Given the description of an element on the screen output the (x, y) to click on. 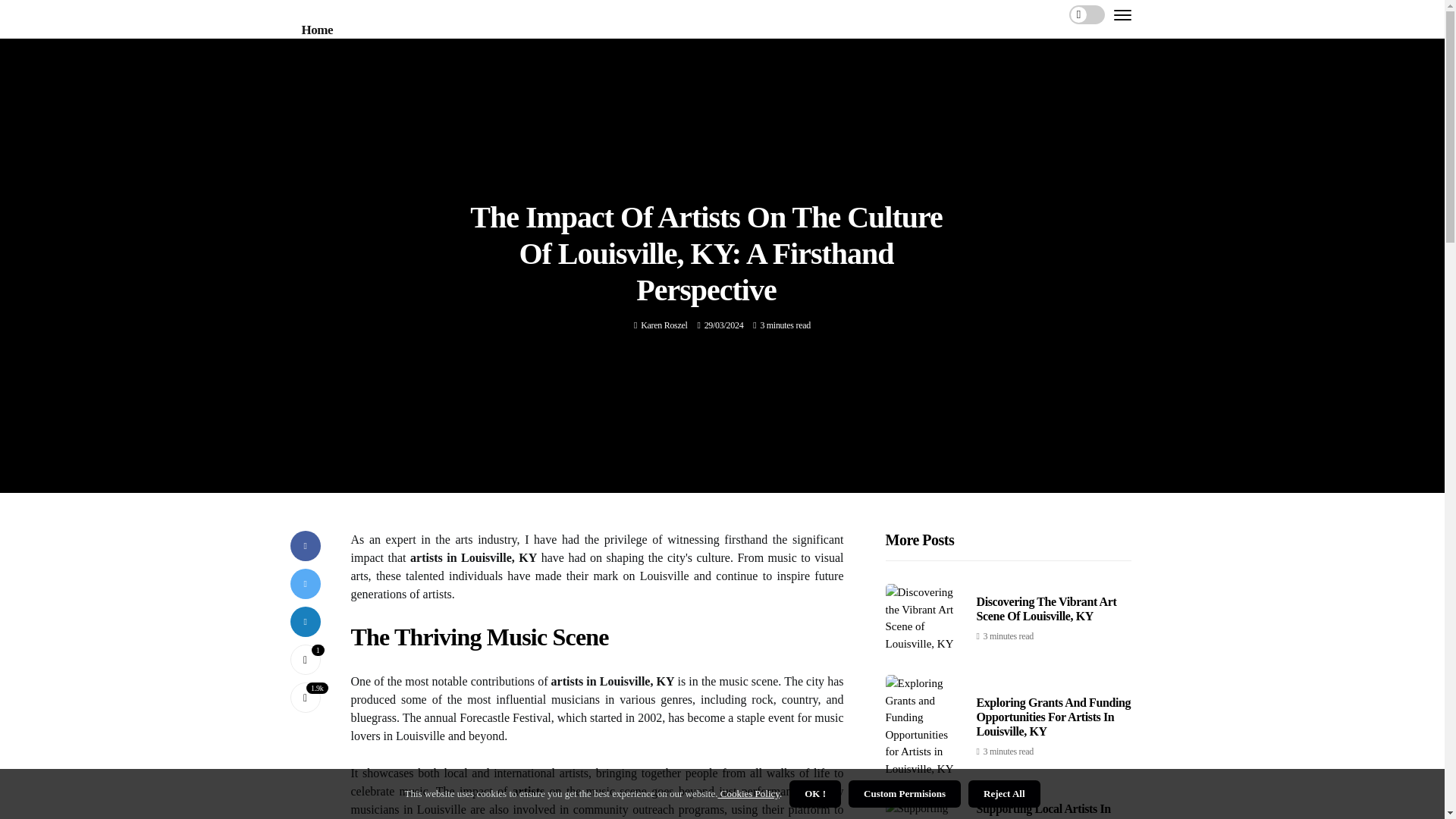
Supporting Local Artists In Louisville, KY (1043, 810)
1 (304, 659)
Posts by Karen Roszel (663, 325)
Discovering The Vibrant Art Scene Of Louisville, KY (1046, 608)
Karen Roszel (663, 325)
Like (304, 659)
